Given the description of an element on the screen output the (x, y) to click on. 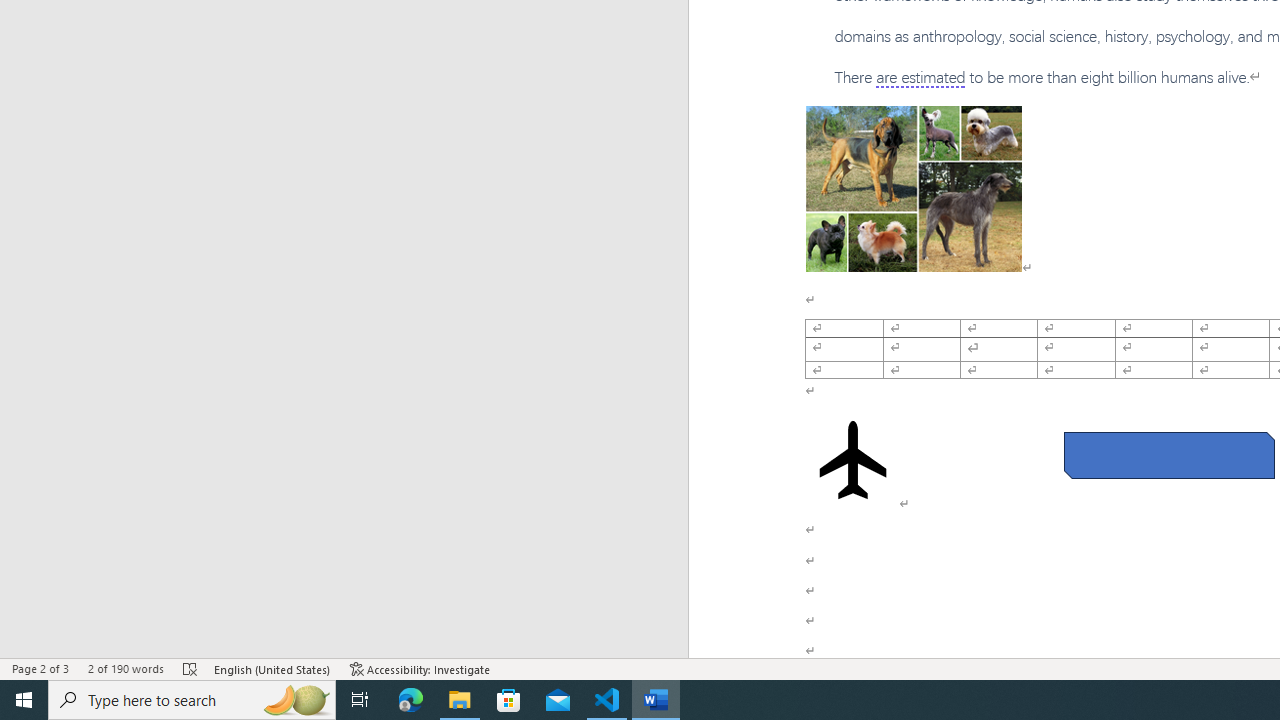
Page Number Page 2 of 3 (39, 668)
Morphological variation in six dogs (913, 188)
Accessibility Checker Accessibility: Investigate (420, 668)
Spelling and Grammar Check Errors (191, 668)
Airplane with solid fill (852, 459)
Rectangle: Diagonal Corners Snipped 2 (1168, 455)
Language English (United States) (273, 668)
